Given the description of an element on the screen output the (x, y) to click on. 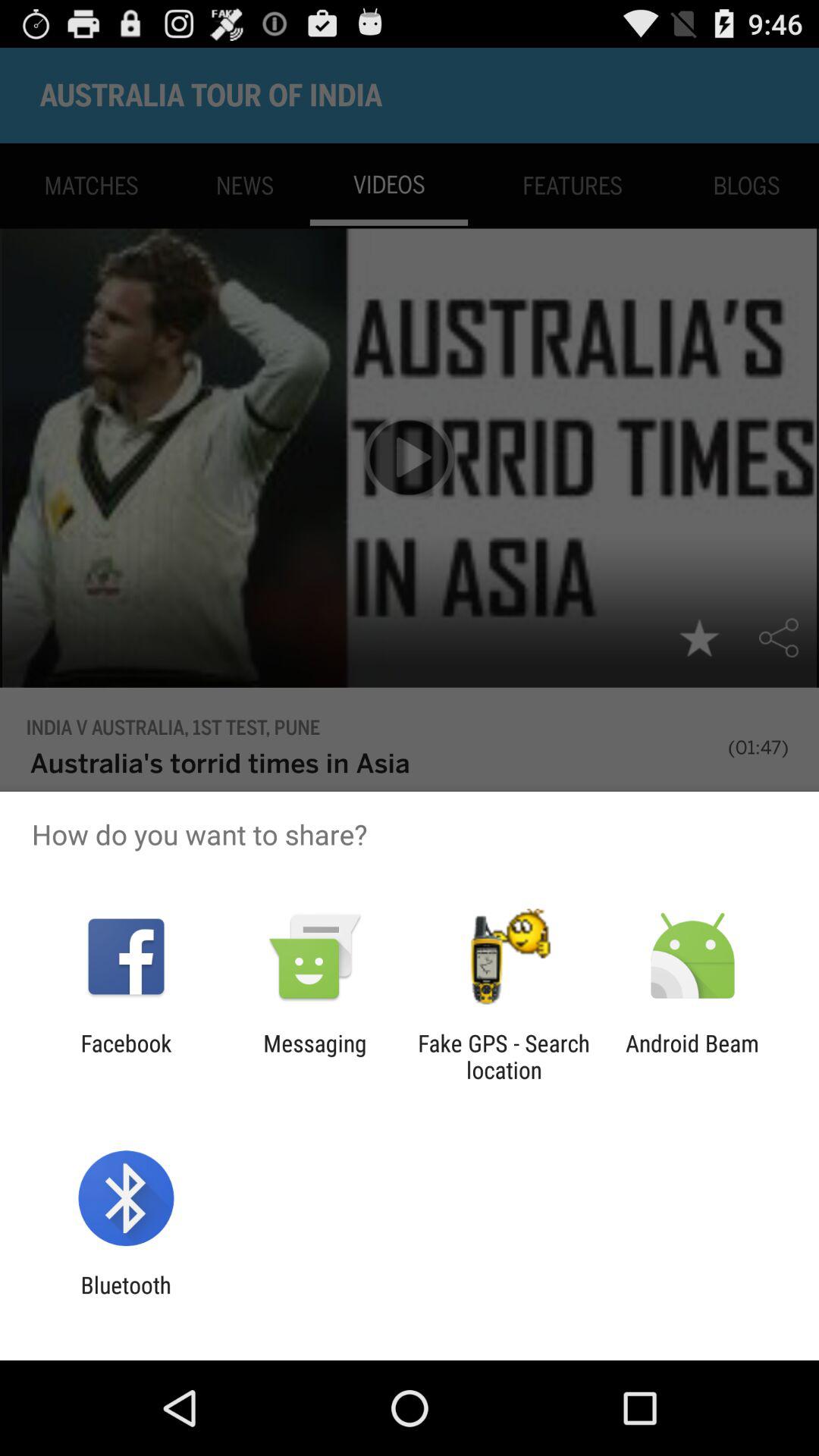
turn off the bluetooth app (125, 1298)
